Given the description of an element on the screen output the (x, y) to click on. 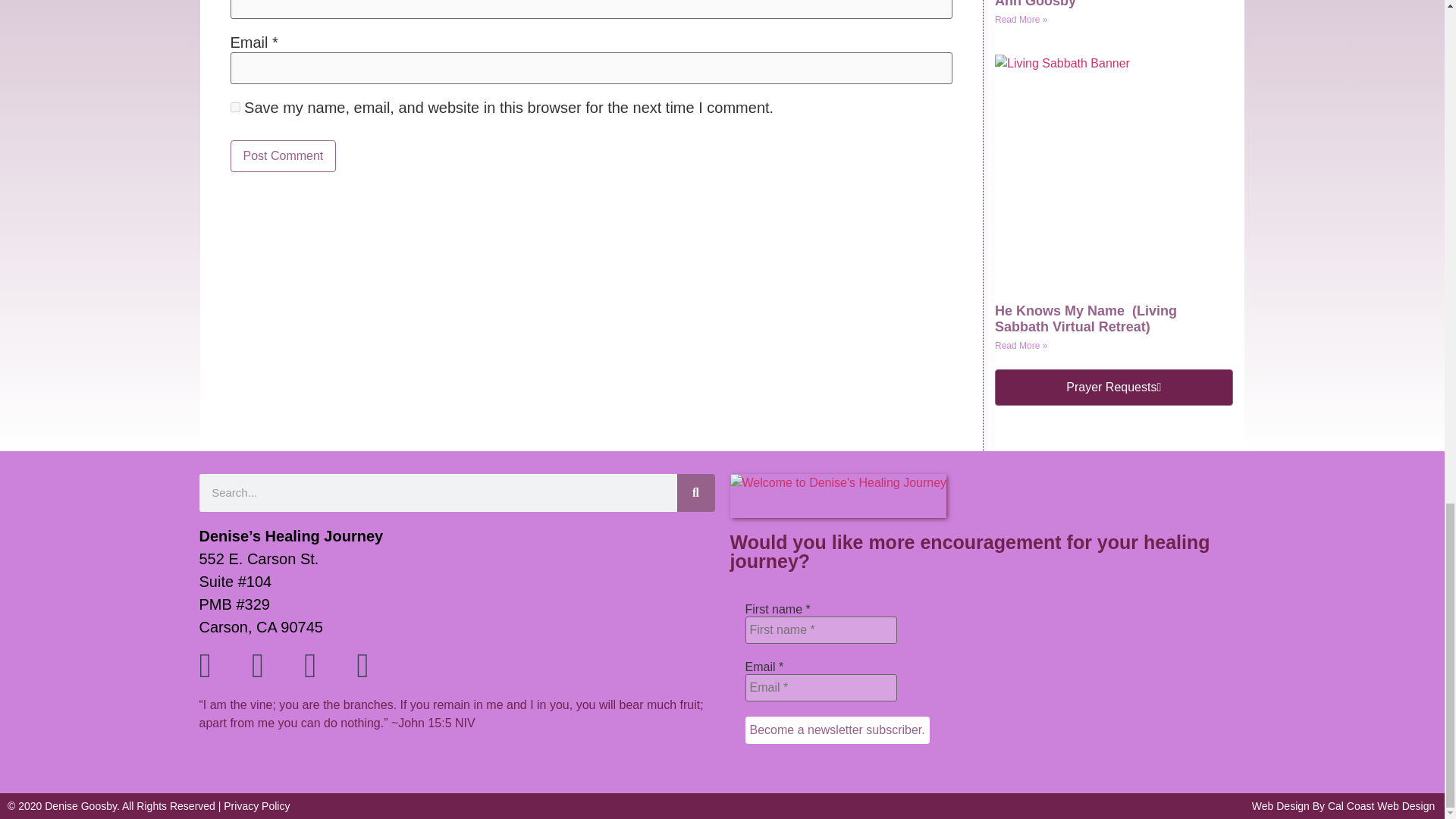
Email (820, 687)
Post Comment (283, 155)
yes (235, 107)
First name (820, 629)
Become a newsletter subscriber. (836, 729)
